Given the description of an element on the screen output the (x, y) to click on. 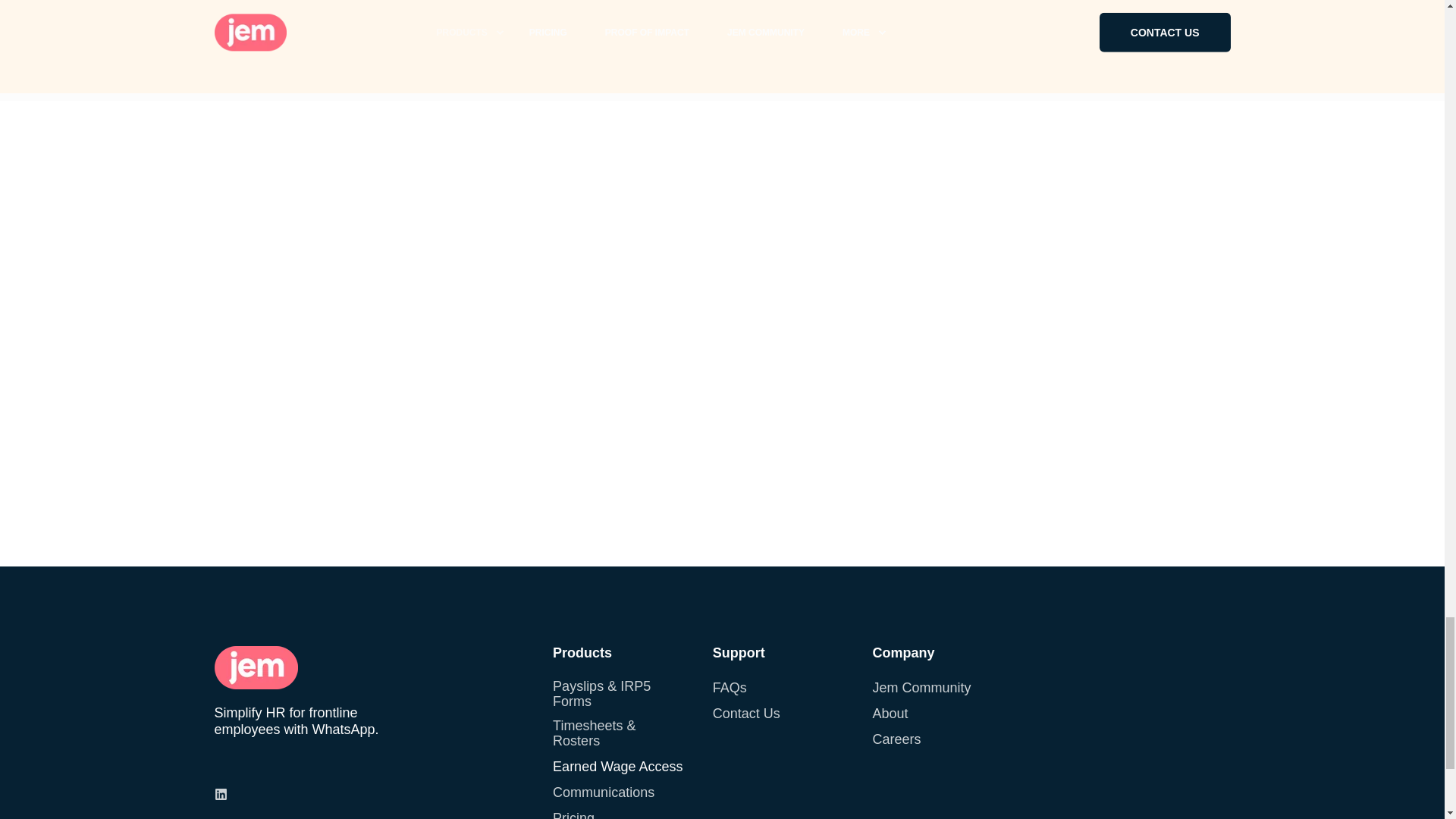
logo (255, 667)
